Given the description of an element on the screen output the (x, y) to click on. 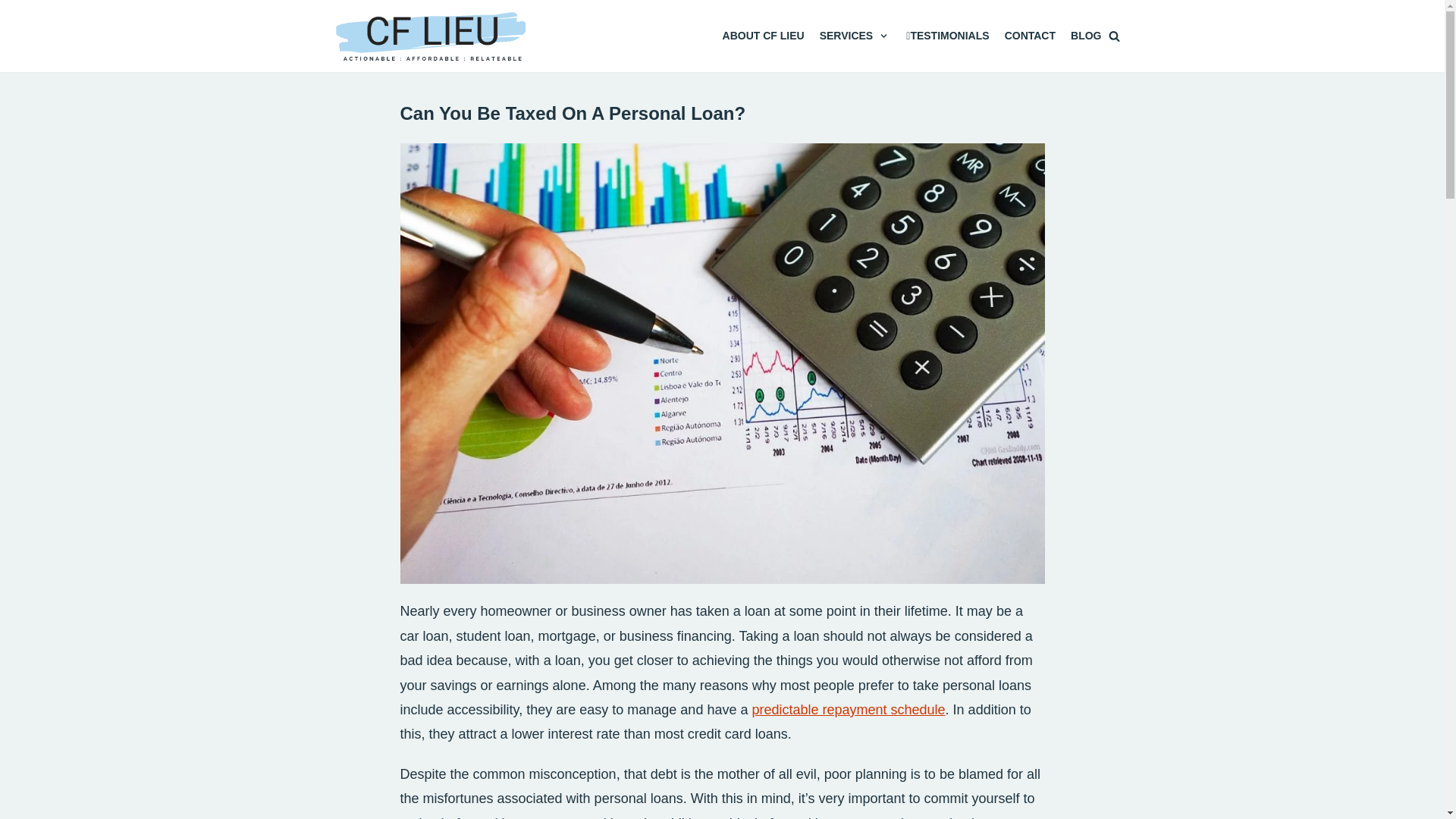
BLOG (1085, 35)
ABOUT CF LIEU (763, 35)
Skip to content (15, 31)
CONTACT (1029, 35)
SERVICES (855, 35)
predictable repayment schedule (847, 709)
CF Lieu (430, 35)
Search (1109, 409)
